Given the description of an element on the screen output the (x, y) to click on. 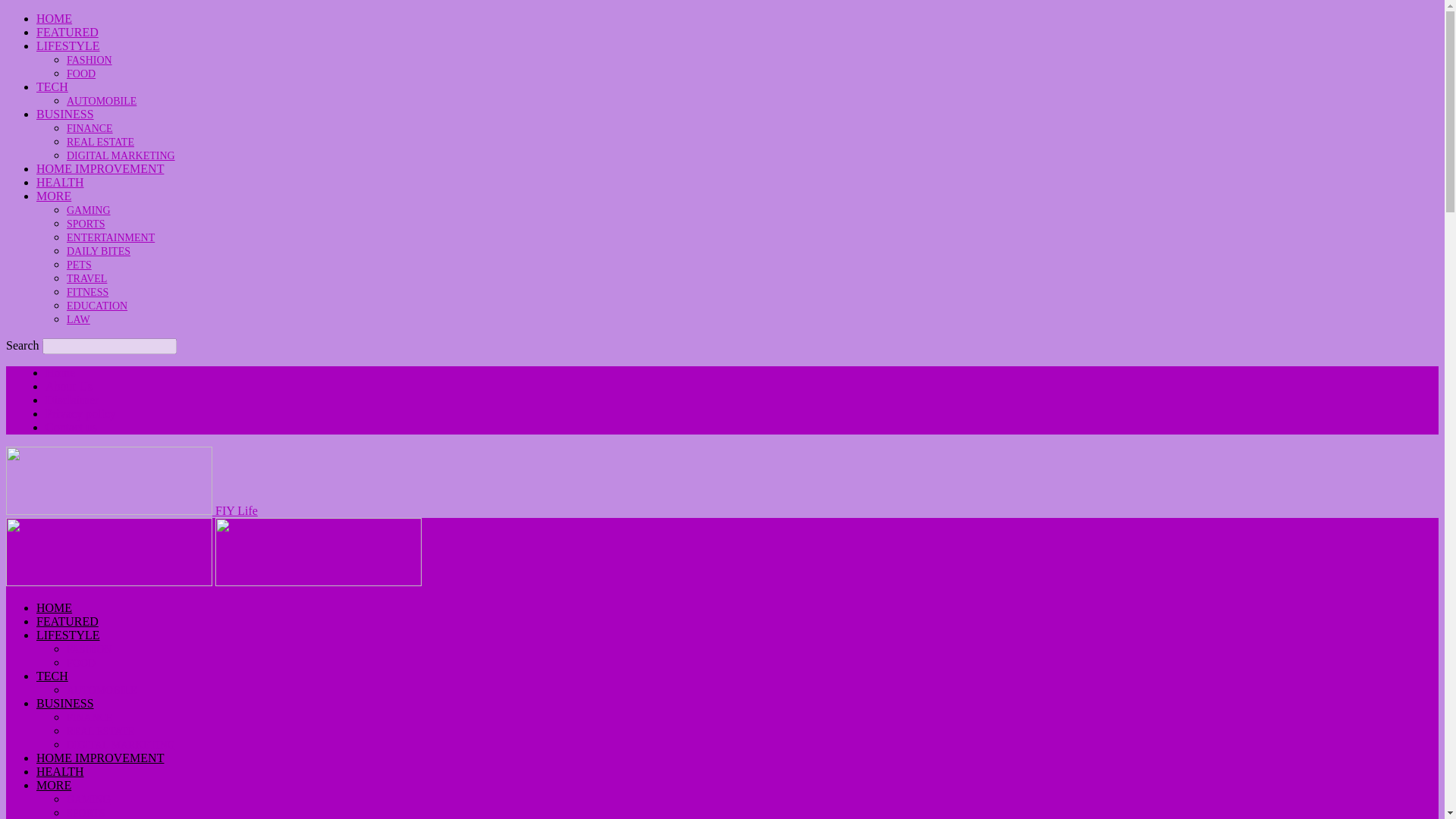
DAILY BITES (98, 251)
LIFESTYLE (68, 45)
FIY Life (131, 510)
FEATURED (67, 31)
EDUCATION (97, 306)
HOME (53, 18)
Home (60, 372)
Disclaimer (72, 399)
ENTERTAINMENT (110, 237)
PETS (78, 265)
HEALTH (60, 182)
FASHION (89, 60)
FOOD (81, 73)
BUSINESS (65, 113)
REAL ESTATE (99, 142)
